Given the description of an element on the screen output the (x, y) to click on. 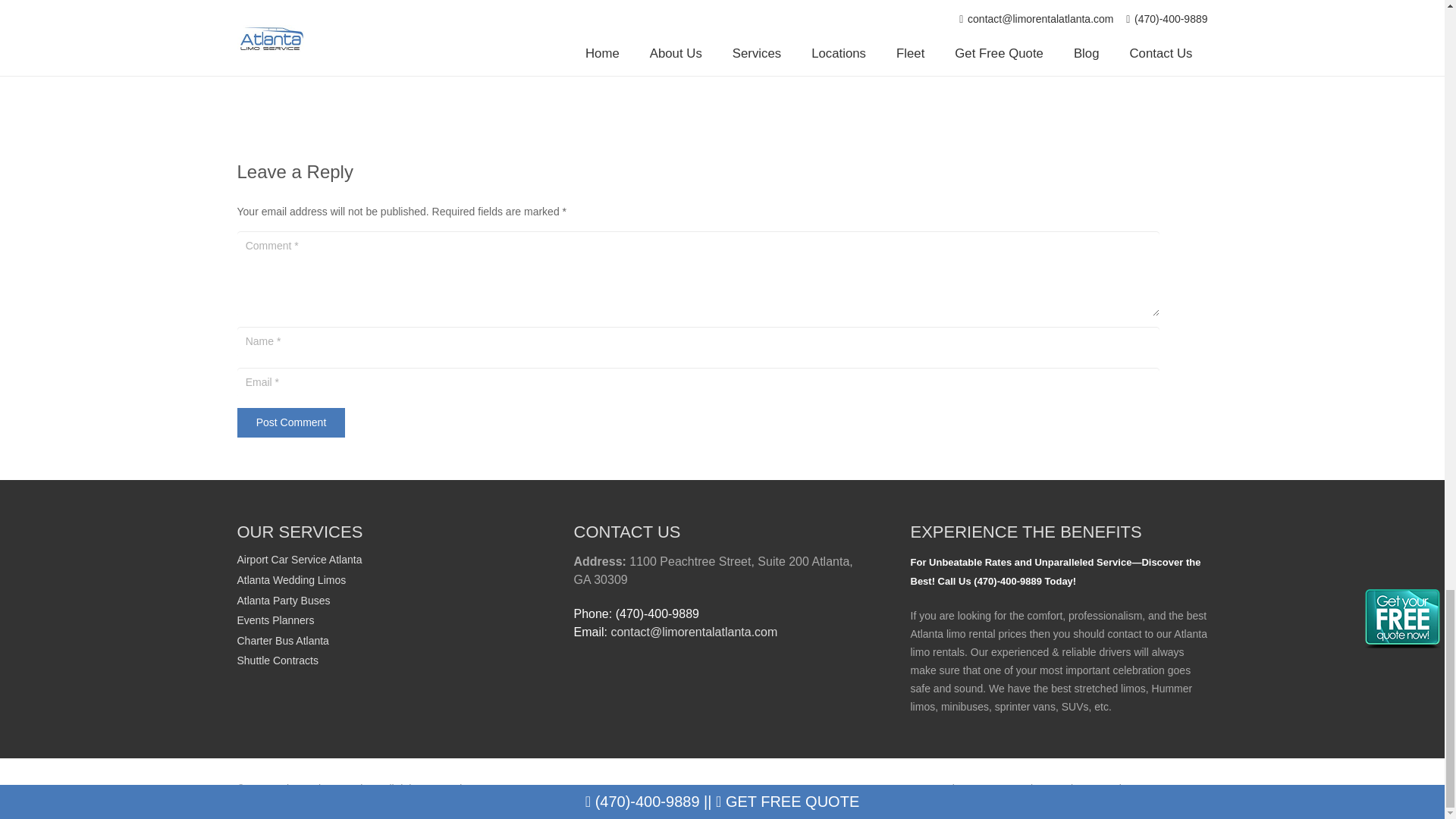
Airport Car Service Atlanta (298, 559)
Home (912, 788)
Blog (1074, 788)
Post Comment (290, 422)
Atlanta Wedding Limos (290, 580)
Charter Bus Atlanta (282, 640)
Shuttle Contracts (276, 660)
Events Planners (274, 620)
Atlanta Party Buses (282, 599)
